Given the description of an element on the screen output the (x, y) to click on. 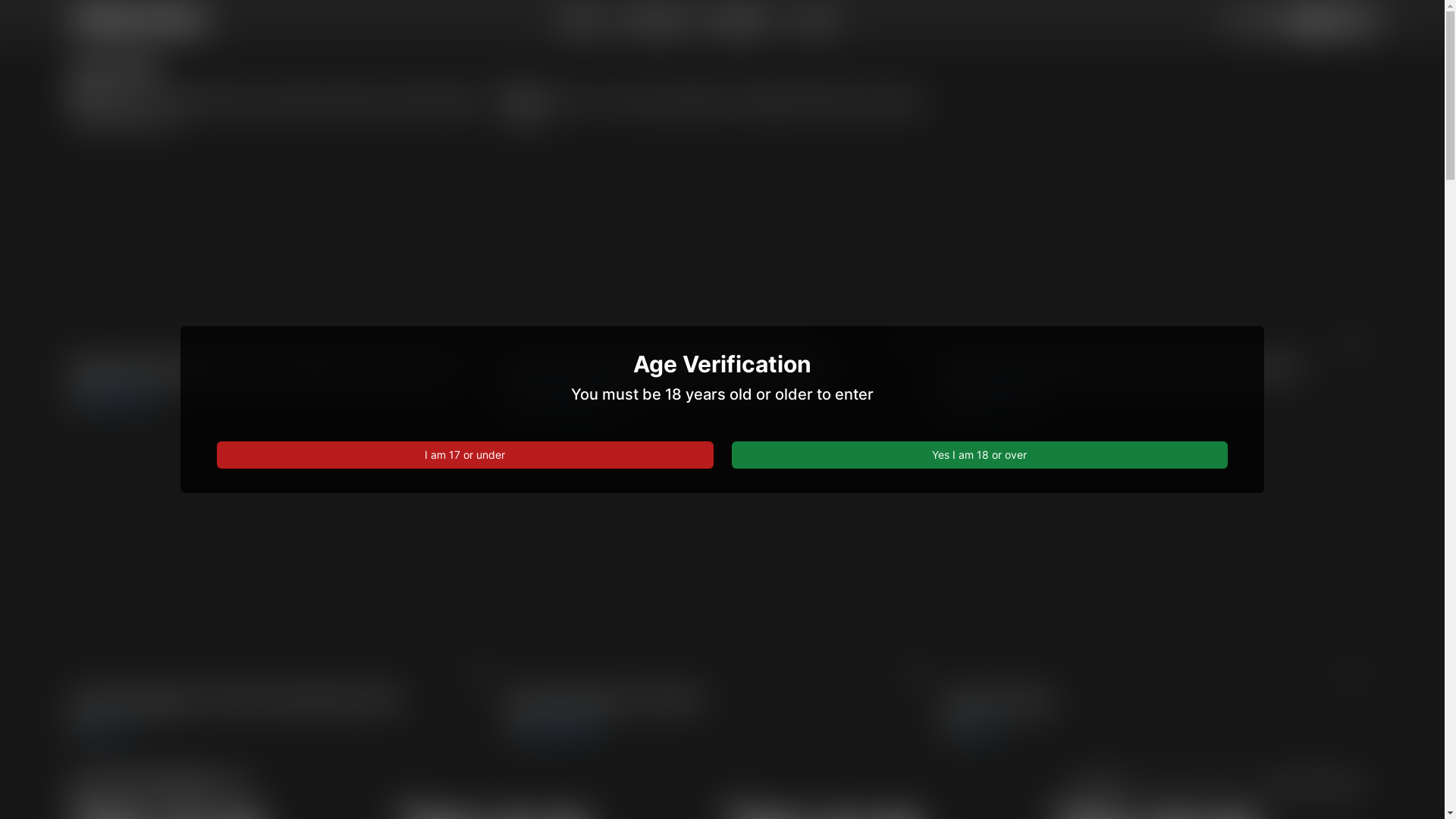
VIDEOS Element type: text (581, 21)
Lucy Sunflower Element type: text (562, 728)
More Porn Videos Element type: text (1319, 784)
Newest Element type: text (1152, 784)
Teen anal 2 - Scene 1 Element type: text (1158, 564)
Zoe Lark Element type: text (109, 728)
DEALS Element type: text (811, 21)
Lexxxi Nicole Scarlet Element type: text (574, 396)
Serenity Chaste Element type: text (999, 396)
Yes I am 18 or over Element type: text (978, 454)
CATEGORIES Element type: text (652, 21)
Hairy nerd bends over for a deep fuck Element type: text (722, 564)
Most Liked Element type: text (1210, 784)
SIGN IN Element type: text (1339, 21)
PORNSTARS Element type: text (738, 21)
Trending Element type: text (1099, 784)
Melanie Hicks Element type: text (121, 396)
Loli Pop Element type: text (980, 728)
I am 17 or under Element type: text (464, 454)
